Given the description of an element on the screen output the (x, y) to click on. 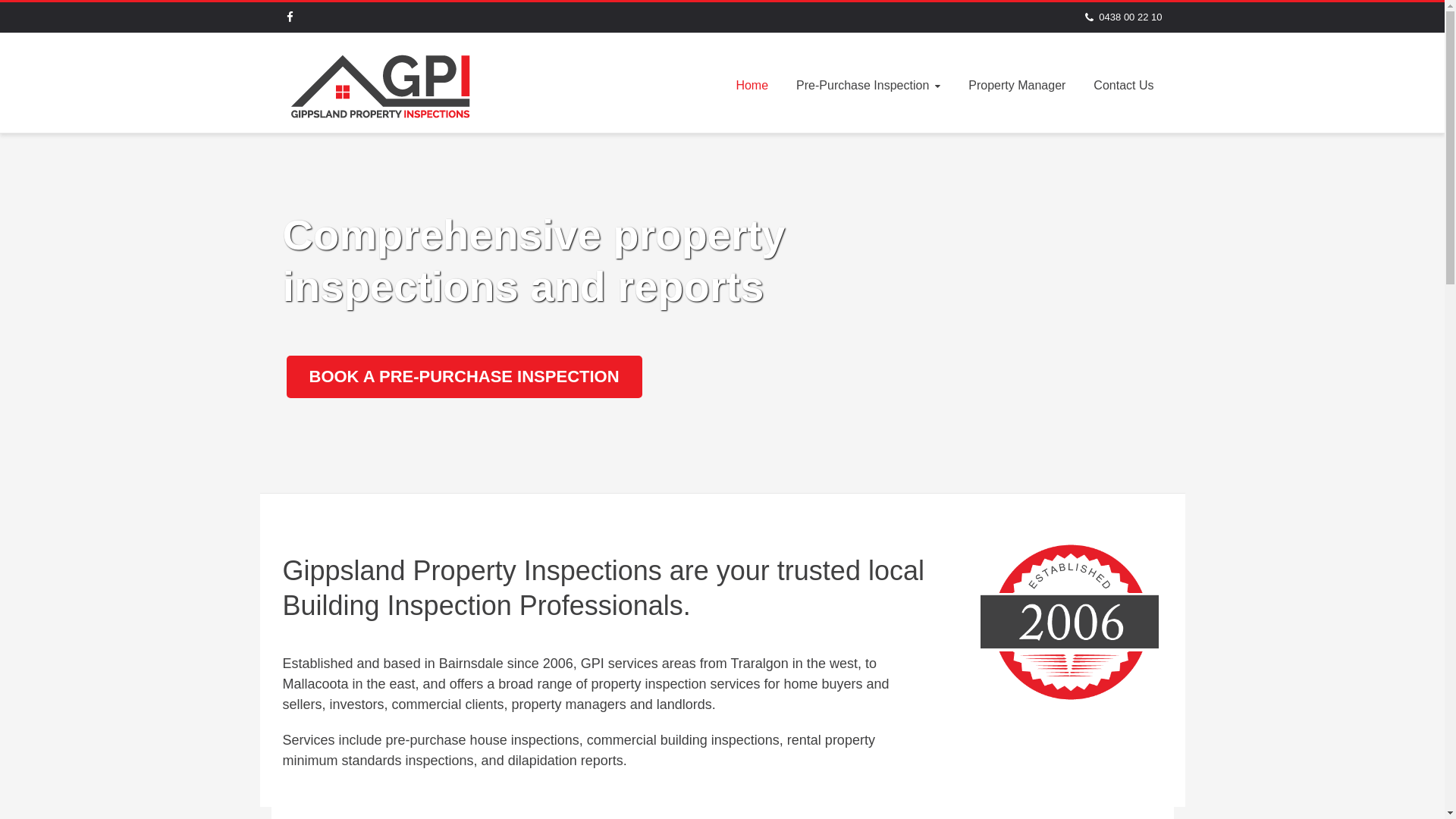
Gippsland Property Inspections Element type: hover (380, 82)
Property Manager Element type: text (1016, 85)
Pre-Purchase Inspection Element type: text (867, 85)
Contact Us Element type: text (1123, 85)
BOOK A PRE-PURCHASE INSPECTION Element type: text (464, 376)
Home Element type: text (751, 85)
